Given the description of an element on the screen output the (x, y) to click on. 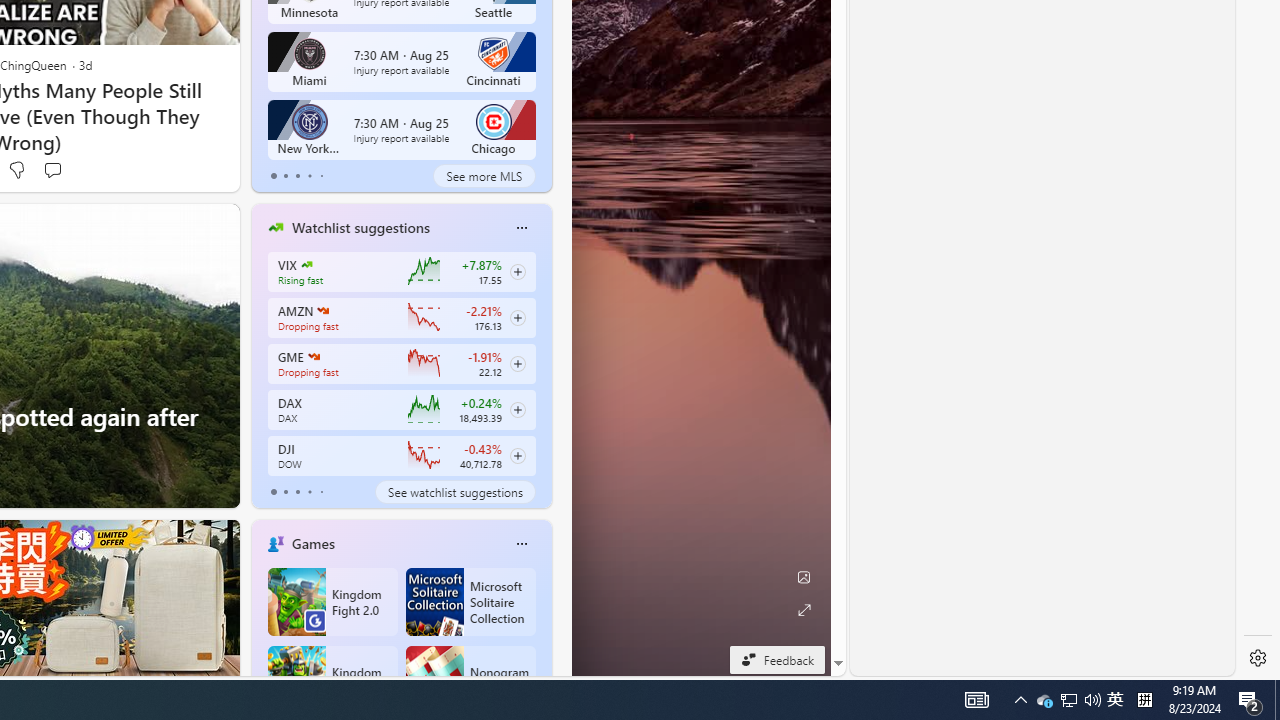
Kingdom Fight (332, 679)
Microsoft Solitaire Collection (470, 601)
tab-3 (309, 491)
tab-0 (273, 491)
Nonogram FRVR (470, 679)
tab-2 (297, 491)
Class: follow-button  m (517, 455)
CBOE Market Volatility Index (306, 264)
